Given the description of an element on the screen output the (x, y) to click on. 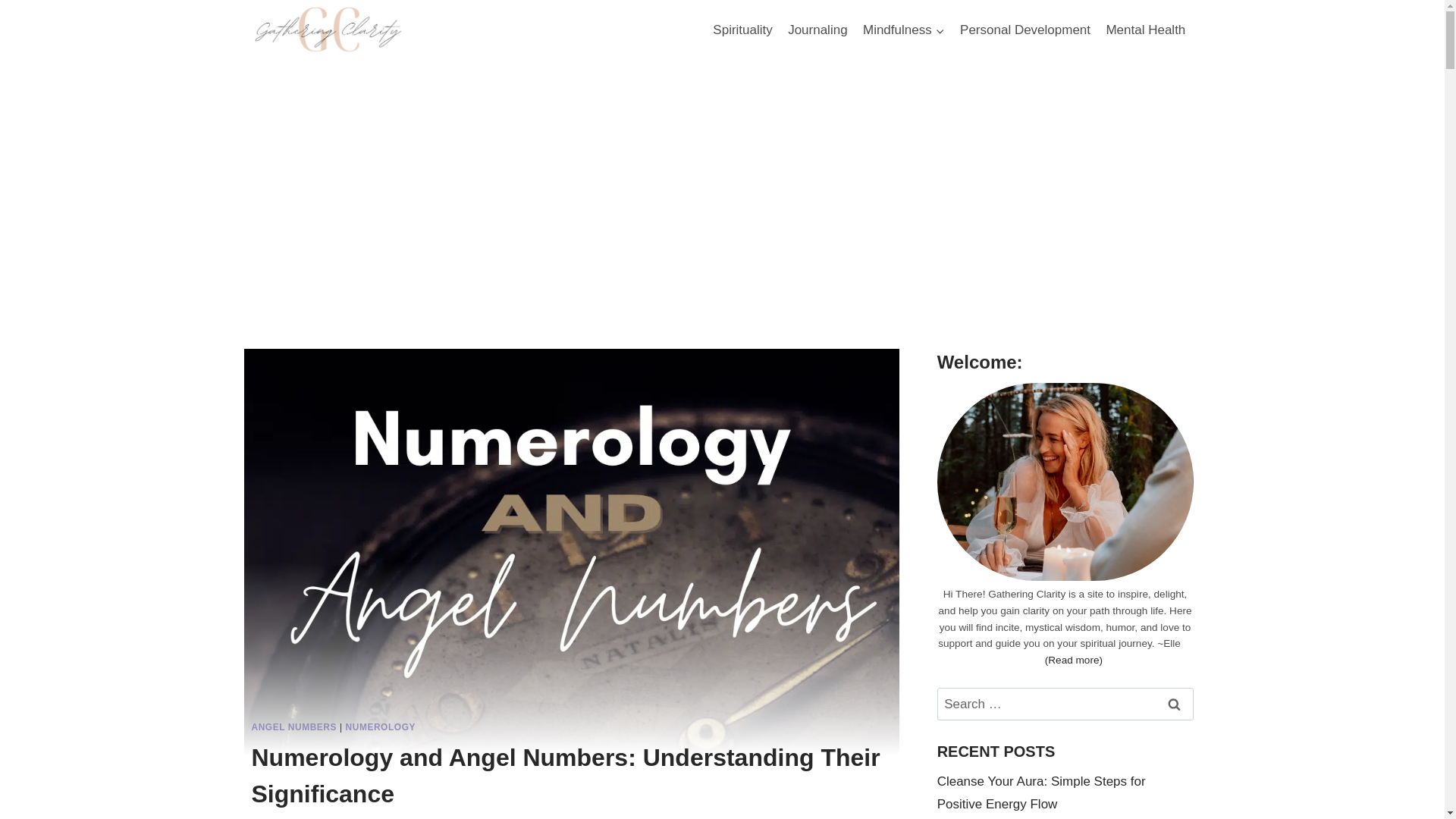
Search (1174, 703)
Spirituality (742, 30)
Personal Development (1024, 30)
Mental Health (1144, 30)
Mindfulness (904, 30)
Search (1174, 703)
NUMEROLOGY (381, 726)
Journaling (818, 30)
ANGEL NUMBERS (294, 726)
